Given the description of an element on the screen output the (x, y) to click on. 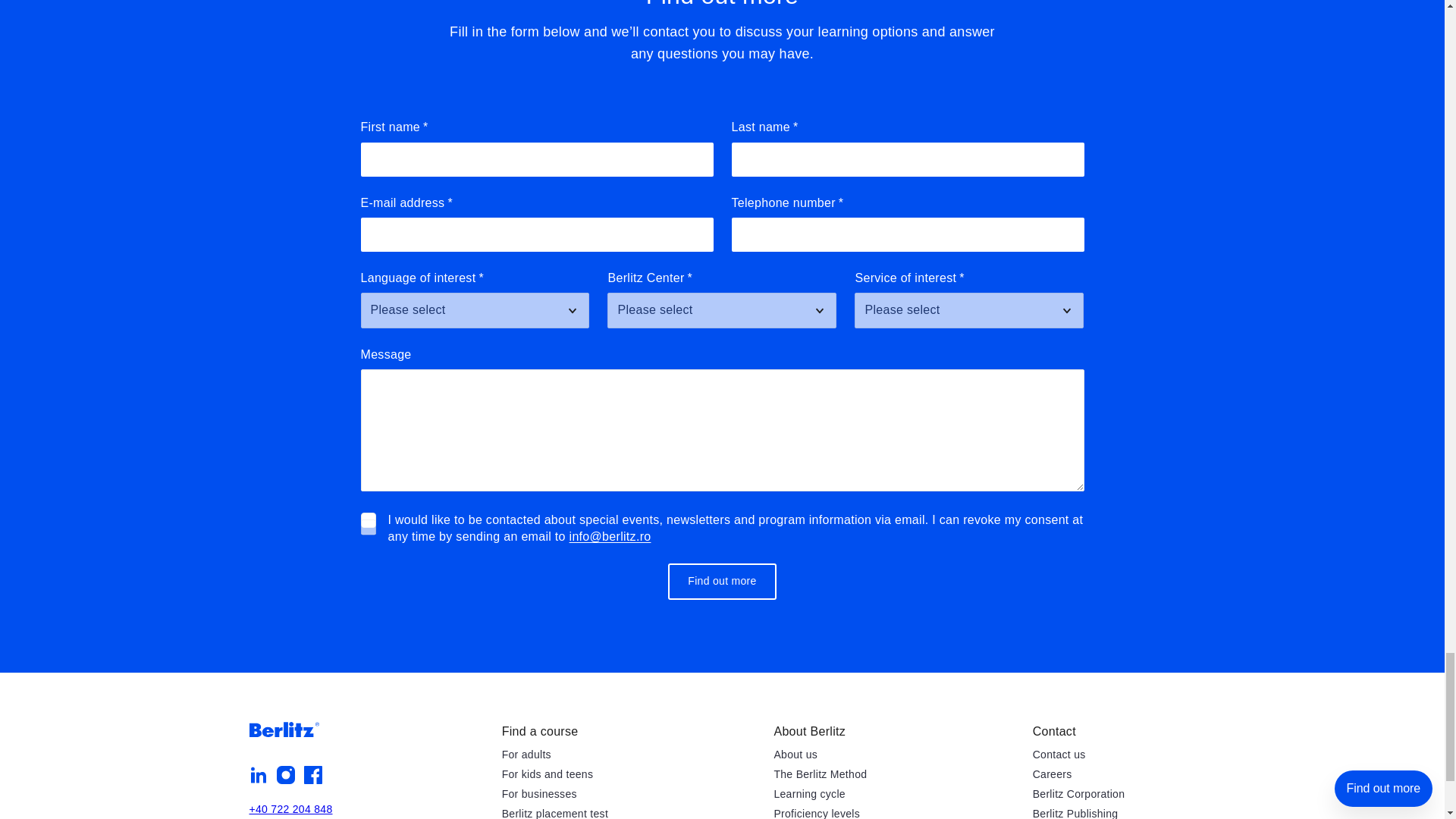
home (283, 729)
